Given the description of an element on the screen output the (x, y) to click on. 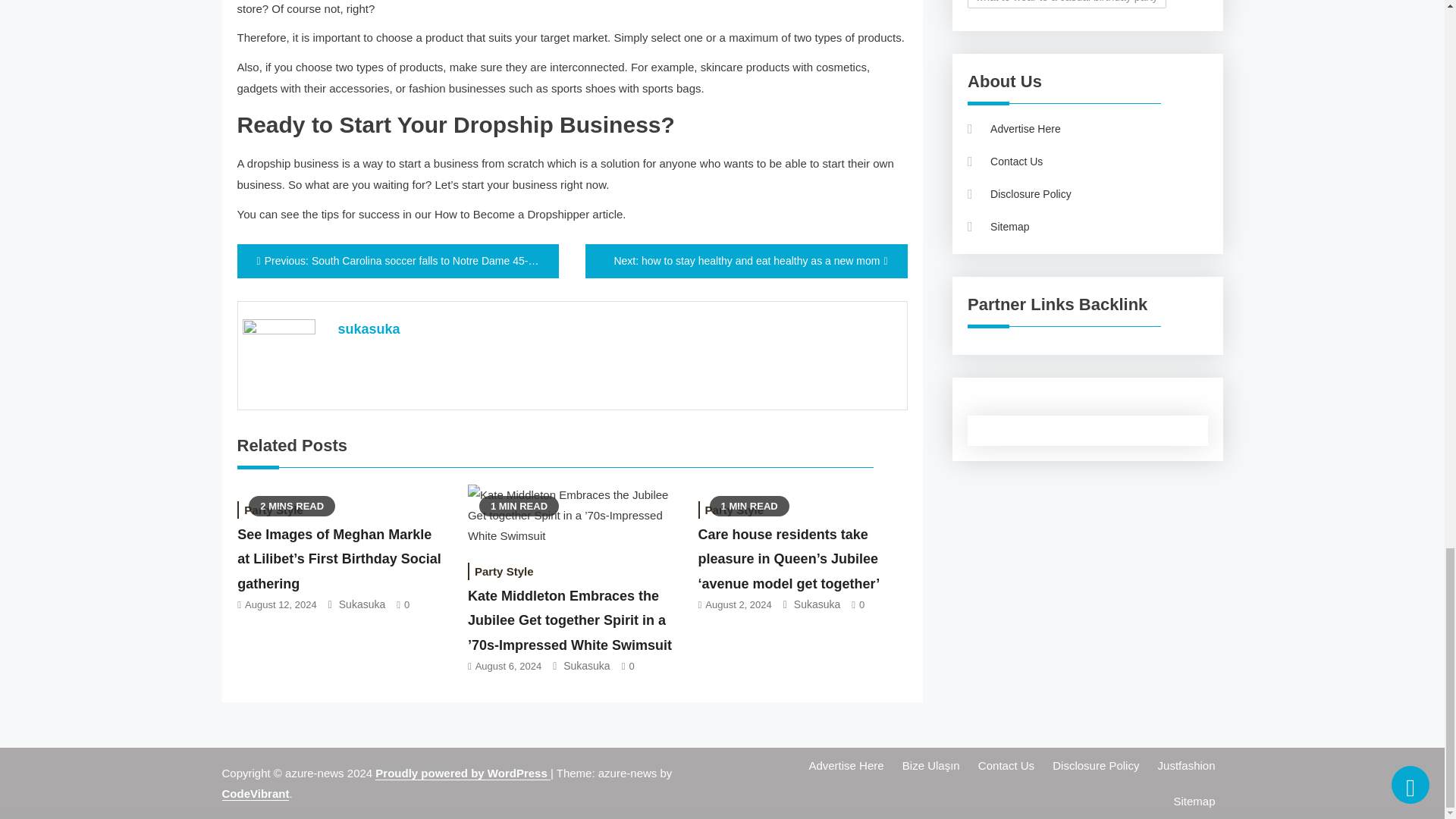
August 12, 2024 (280, 604)
Party Style (503, 570)
Sukasuka (362, 604)
August 6, 2024 (508, 665)
August 2, 2024 (737, 604)
sukasuka (367, 328)
Party Style (734, 509)
Sukasuka (816, 604)
Next: how to stay healthy and eat healthy as a new mom (746, 261)
